Given the description of an element on the screen output the (x, y) to click on. 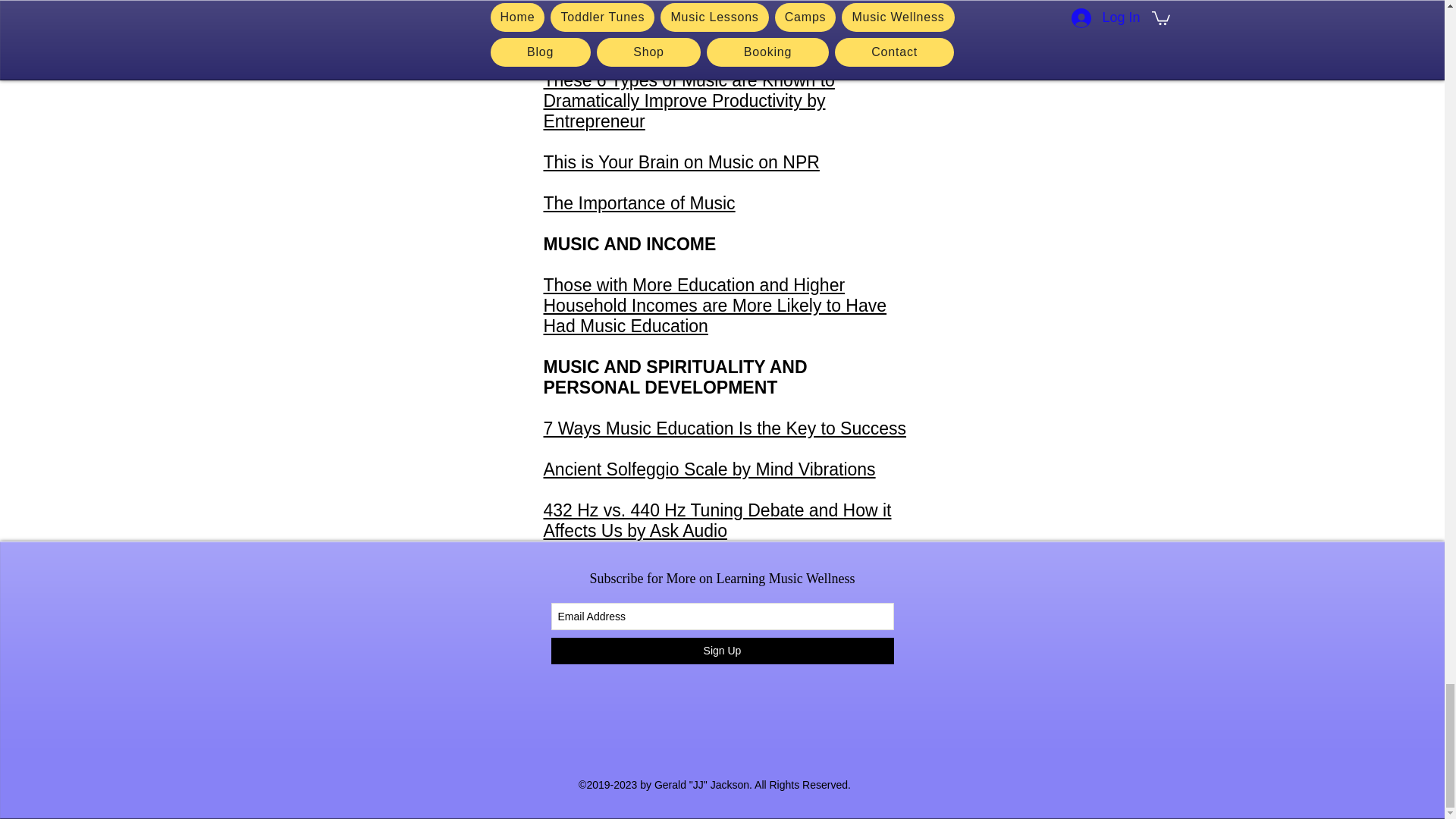
The Health Benefits of Music by Wellness Today (703, 29)
